Given the description of an element on the screen output the (x, y) to click on. 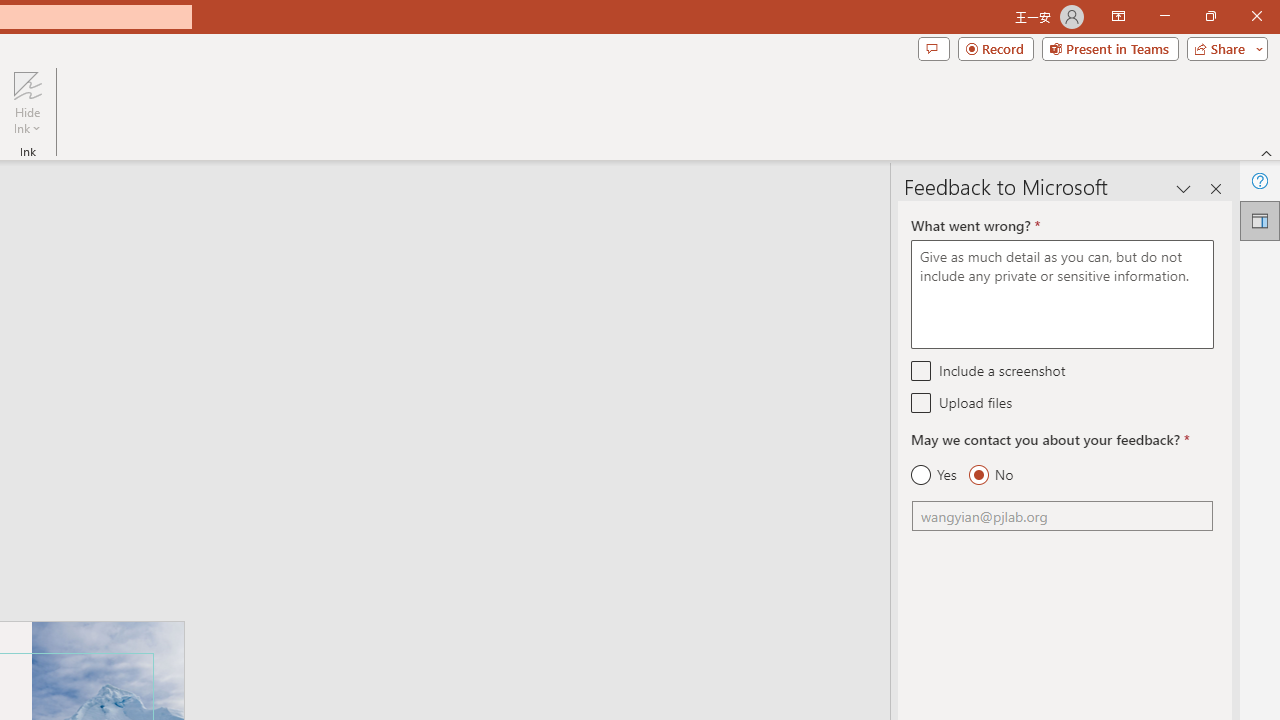
Yes (934, 475)
Email (1062, 516)
